Given the description of an element on the screen output the (x, y) to click on. 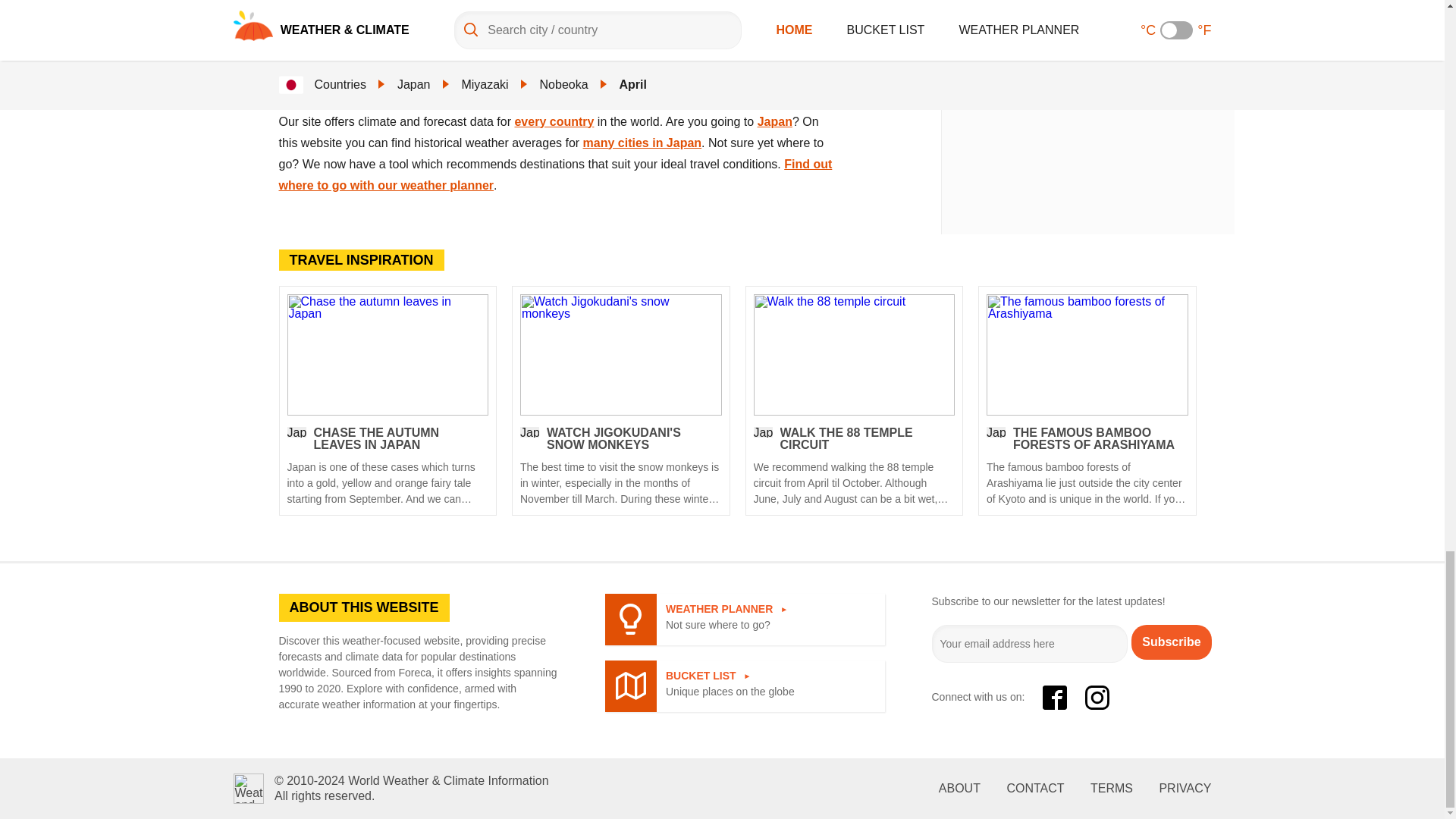
Weather and climate homepage (247, 788)
Walk the 88 temple circuit (854, 354)
Walk the 88 temple circuit (854, 465)
Chase the autumn leaves in Japan (386, 465)
Chase the autumn leaves in Japan (386, 354)
The famous bamboo forests of Arashiyama  (1087, 354)
Subscribe (1171, 642)
Watch Jigokudani's snow monkeys (620, 465)
Watch Jigokudani's snow monkeys (620, 354)
The famous bamboo forests of Arashiyama  (1087, 465)
